Given the description of an element on the screen output the (x, y) to click on. 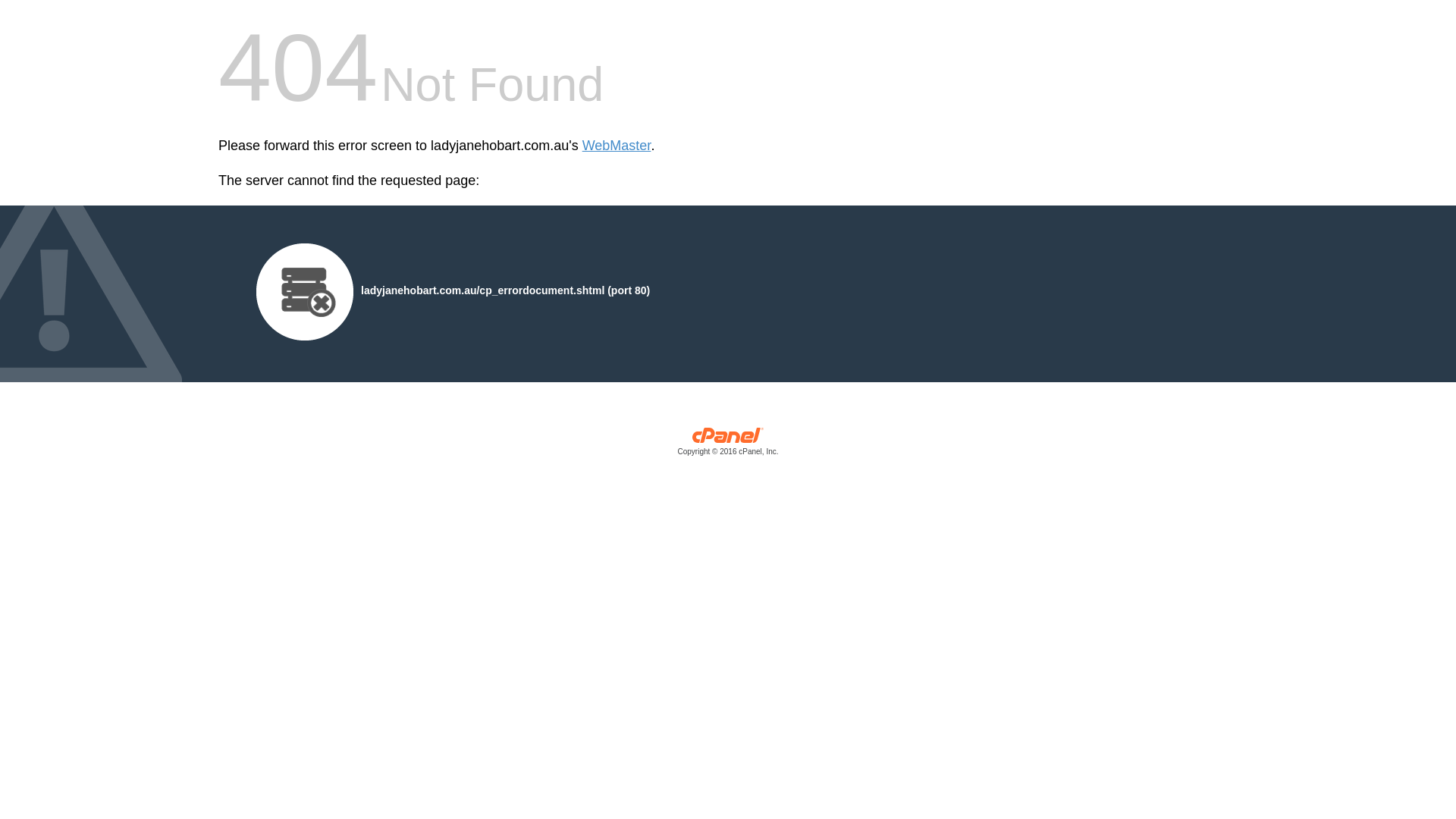
WebMaster Element type: text (616, 145)
